Given the description of an element on the screen output the (x, y) to click on. 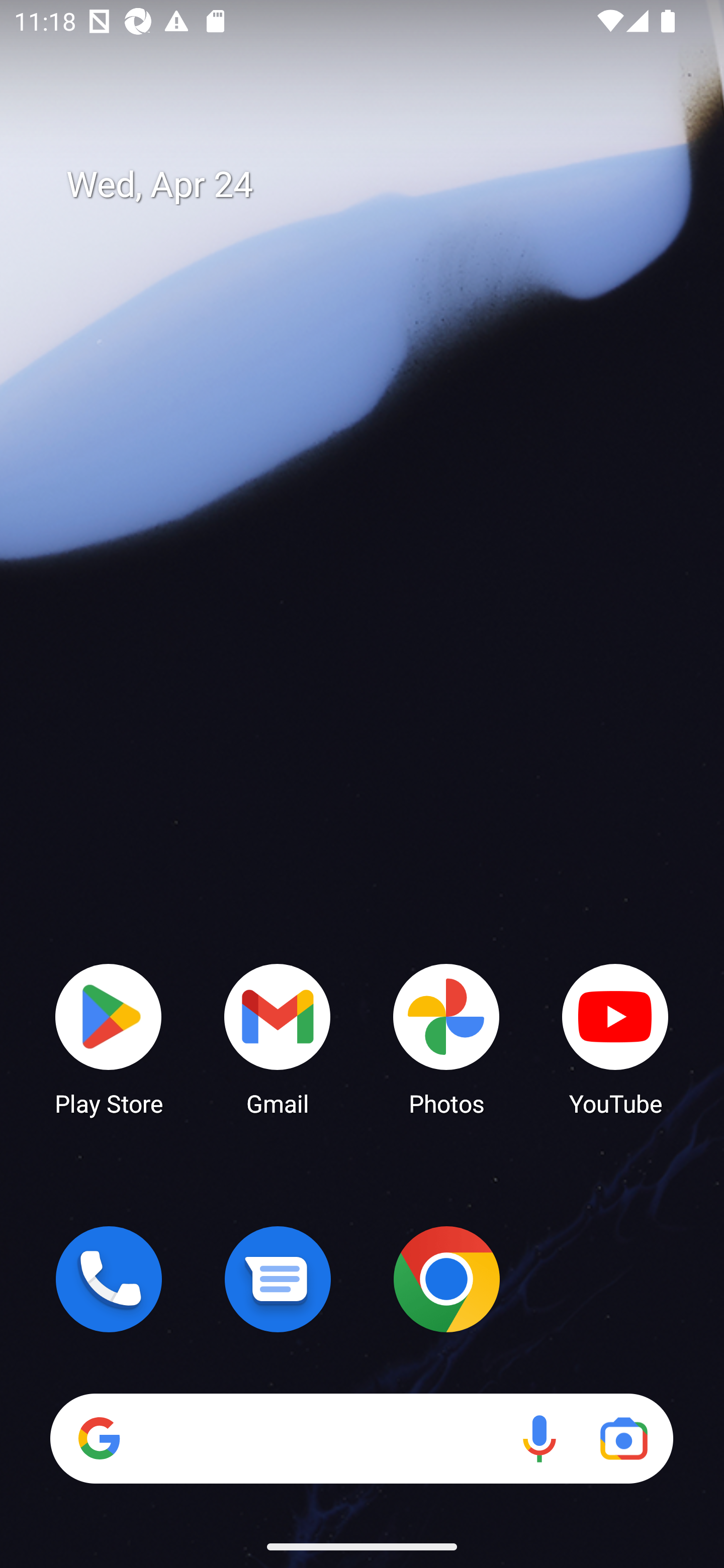
Wed, Apr 24 (375, 184)
Play Store (108, 1038)
Gmail (277, 1038)
Photos (445, 1038)
YouTube (615, 1038)
Phone (108, 1279)
Messages (277, 1279)
Chrome (446, 1279)
Search Voice search Google Lens (361, 1438)
Voice search (539, 1438)
Google Lens (623, 1438)
